Given the description of an element on the screen output the (x, y) to click on. 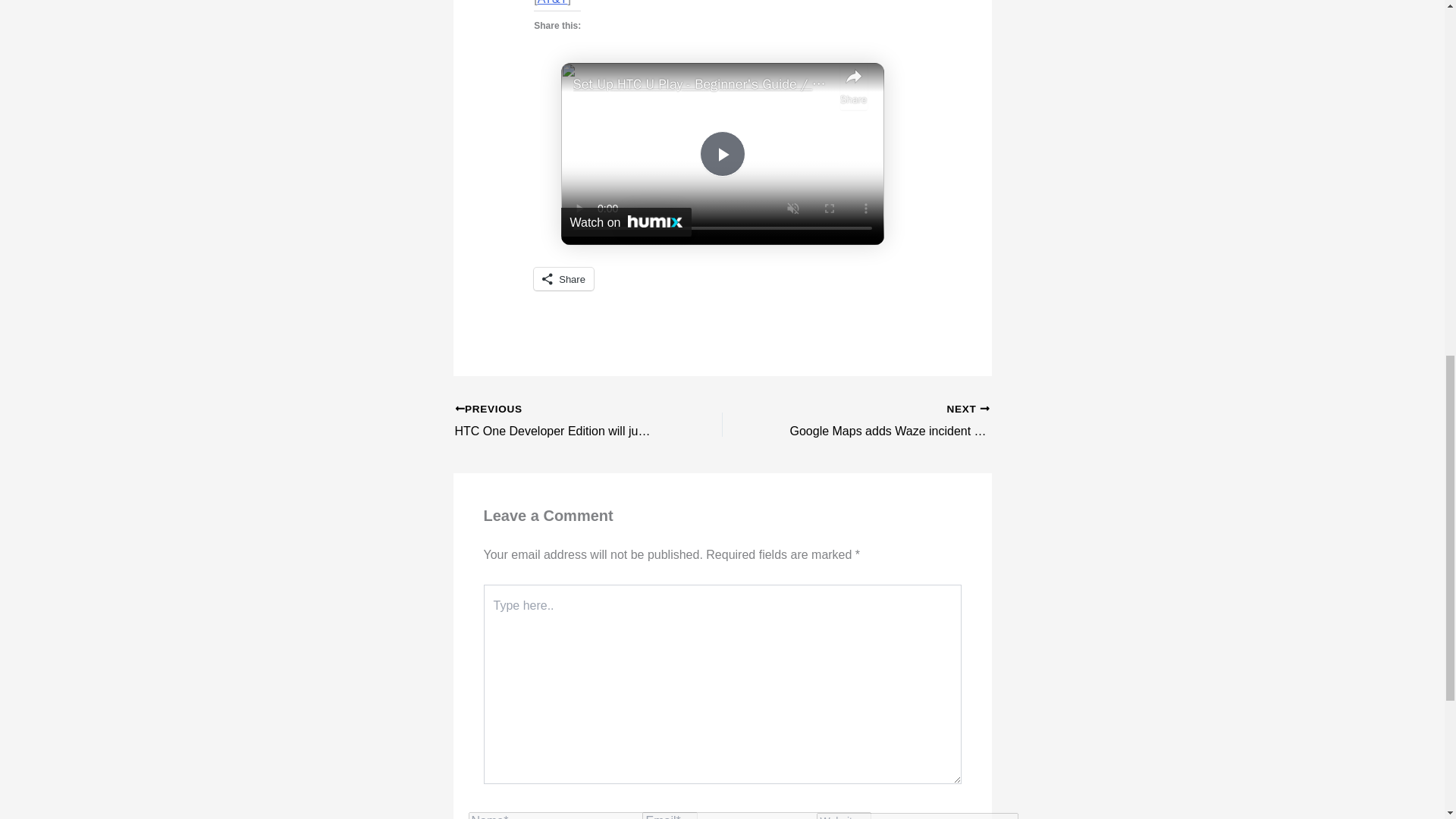
Play Video (721, 153)
